Given the description of an element on the screen output the (x, y) to click on. 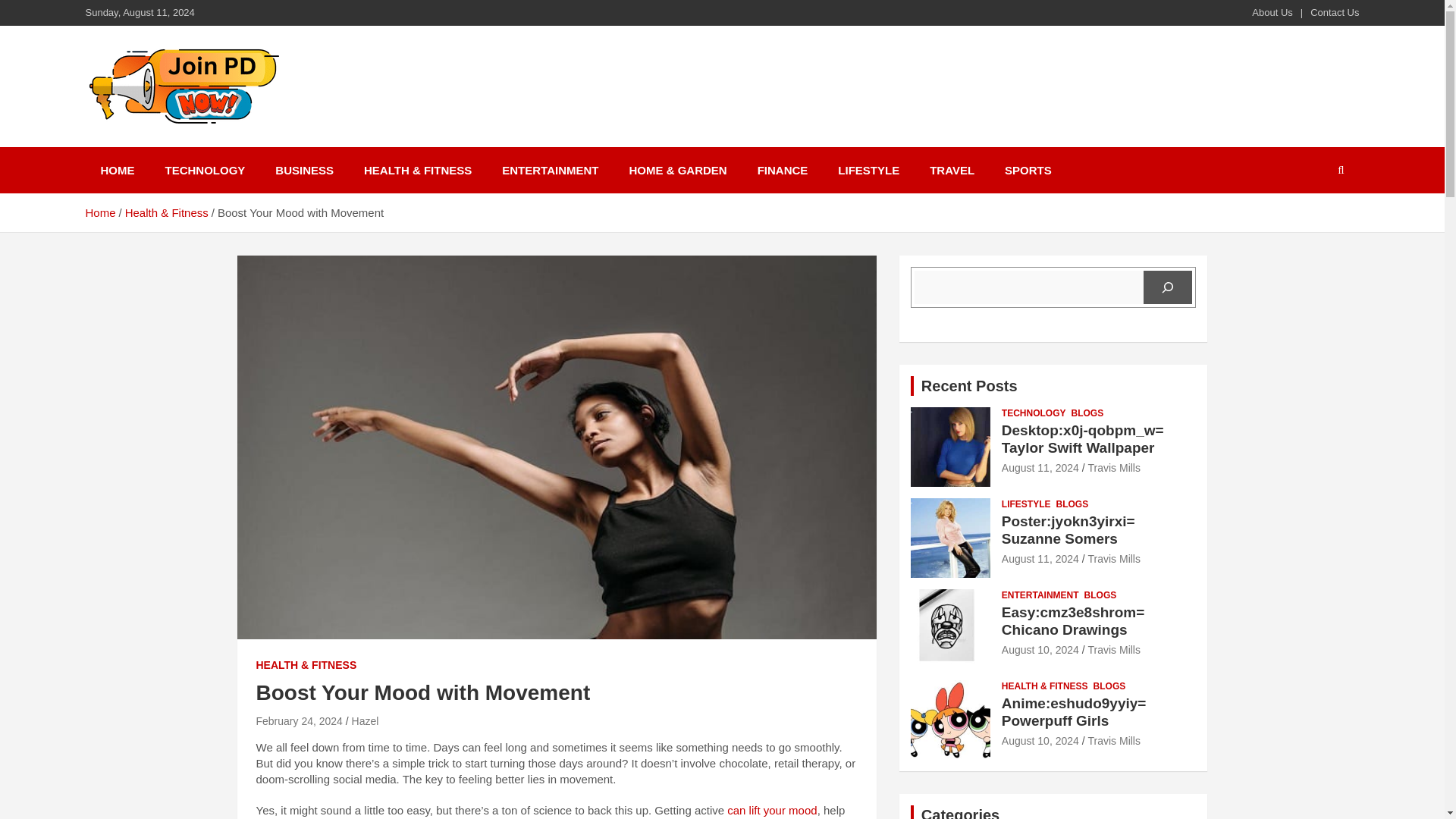
SPORTS (1028, 170)
HOME (116, 170)
BUSINESS (304, 170)
About Us (1272, 12)
FINANCE (783, 170)
Hazel (365, 720)
Joinpd Now (170, 143)
TECHNOLOGY (1033, 413)
can lift your mood (771, 809)
TECHNOLOGY (204, 170)
